Given the description of an element on the screen output the (x, y) to click on. 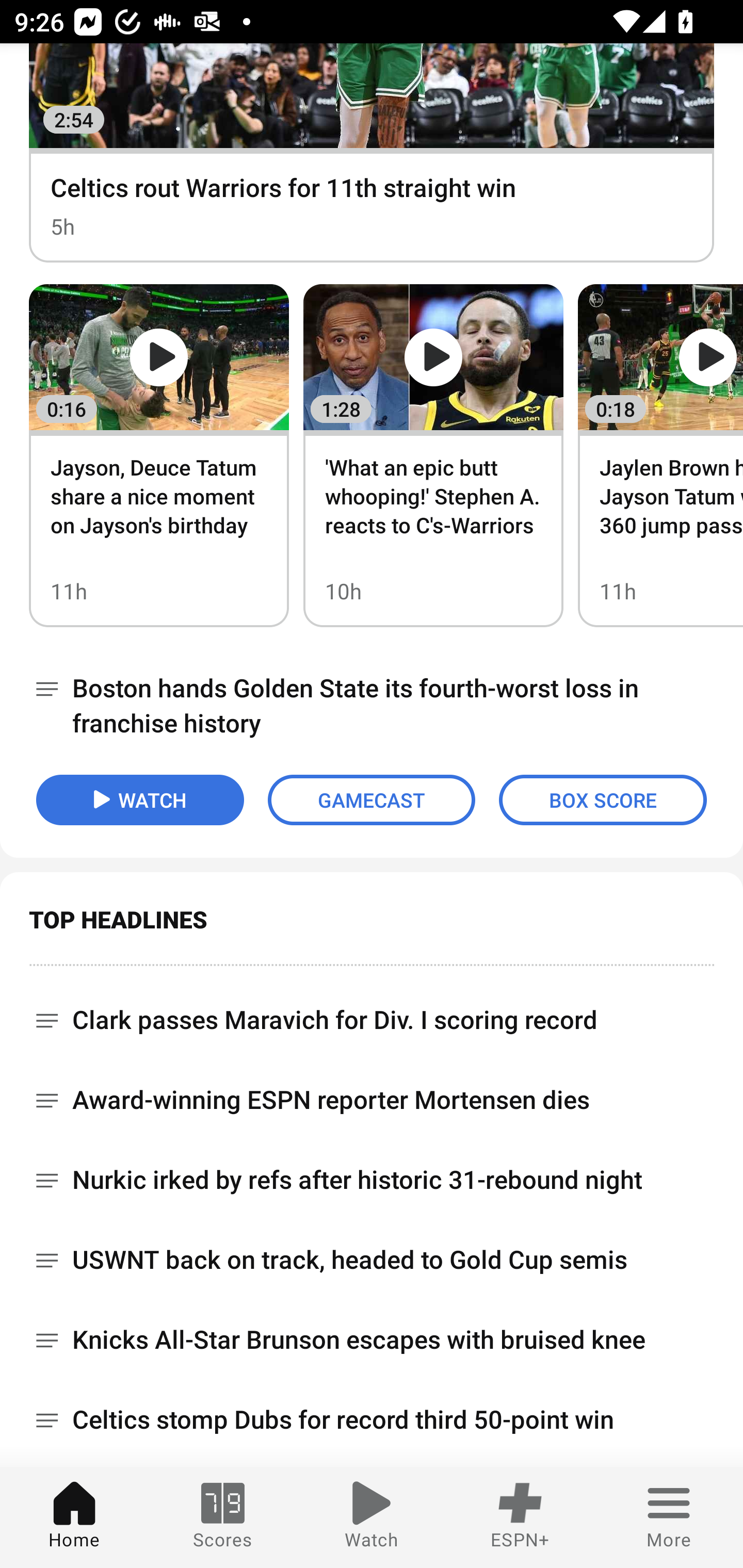
 WATCH (139, 799)
GAMECAST (371, 799)
BOX SCORE (602, 799)
 Clark passes Maravich for Div. I scoring record (371, 1012)
 Award-winning ESPN reporter Mortensen dies (371, 1099)
 USWNT back on track, headed to Gold Cup semis (371, 1259)
 Celtics stomp Dubs for record third 50-point win (371, 1419)
Scores (222, 1517)
Watch (371, 1517)
ESPN+ (519, 1517)
More (668, 1517)
